Given the description of an element on the screen output the (x, y) to click on. 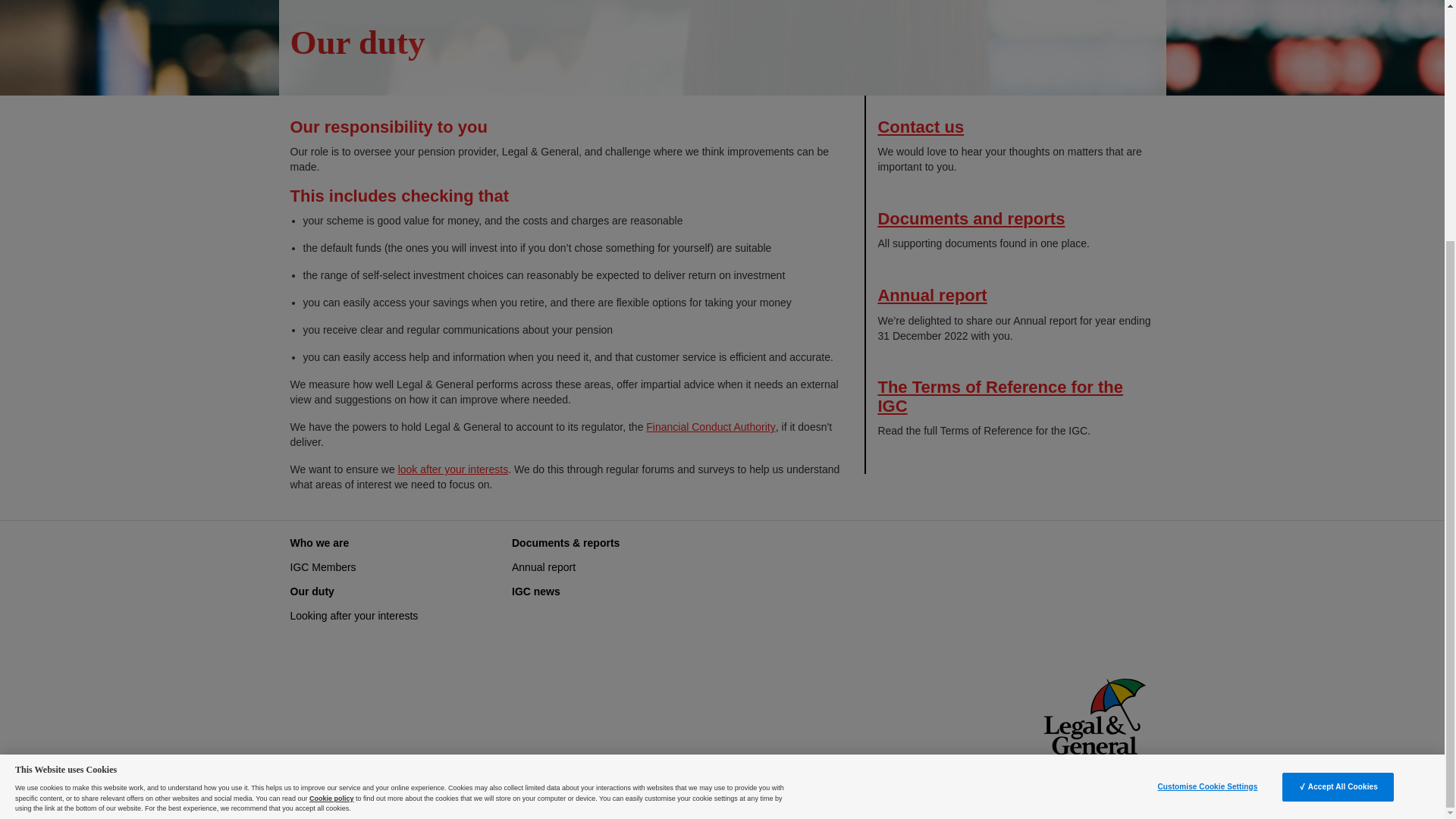
Financial Conduct Authority (710, 426)
Financial Conduct Authority - opens in new window (710, 426)
look after your interests - opens in same window (452, 469)
Contact us - opens in new widow (920, 126)
 The Terms of Reference for the IGC - opens in new window (999, 395)
